Given the description of an element on the screen output the (x, y) to click on. 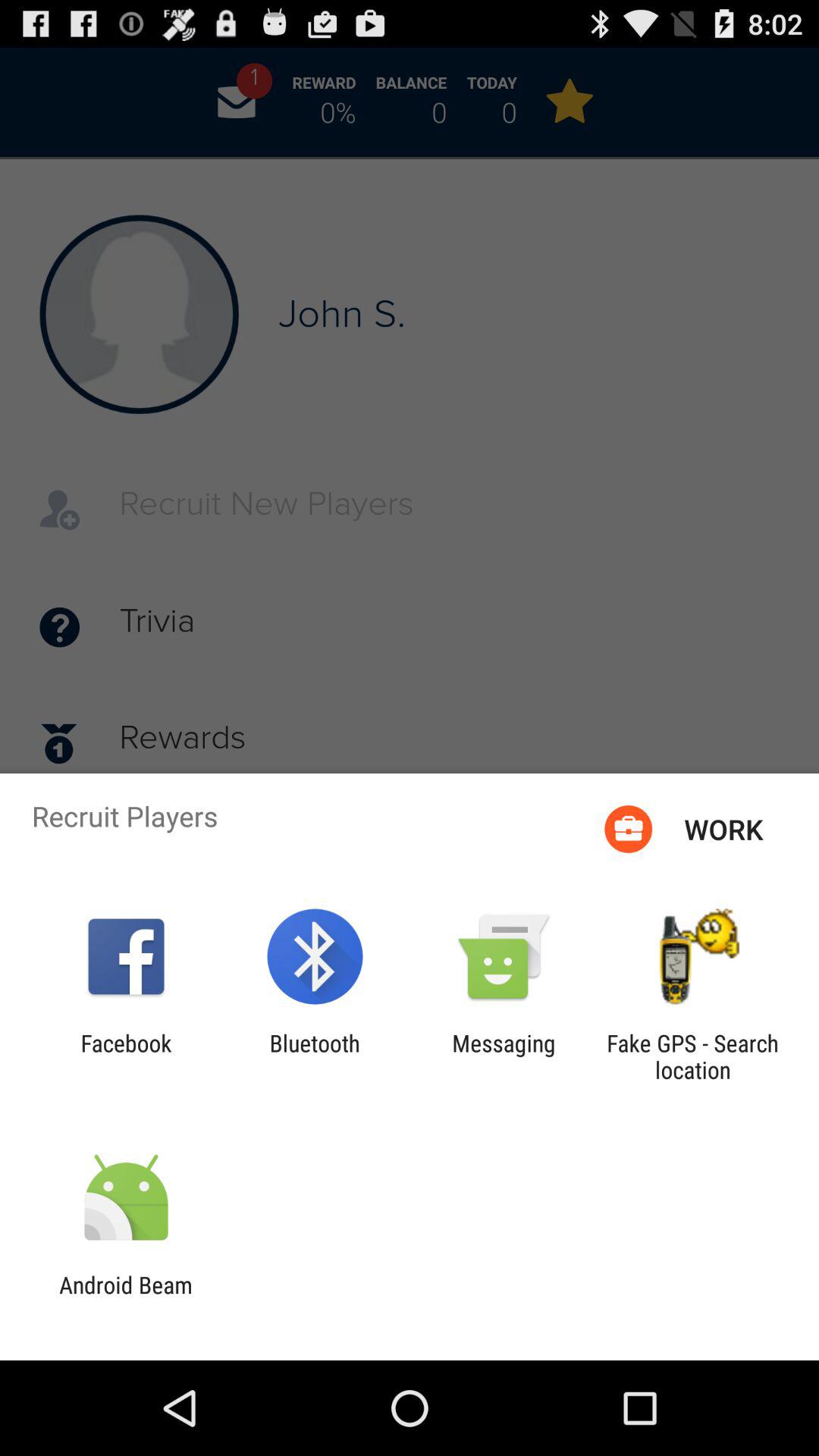
select item next to the facebook item (314, 1056)
